Given the description of an element on the screen output the (x, y) to click on. 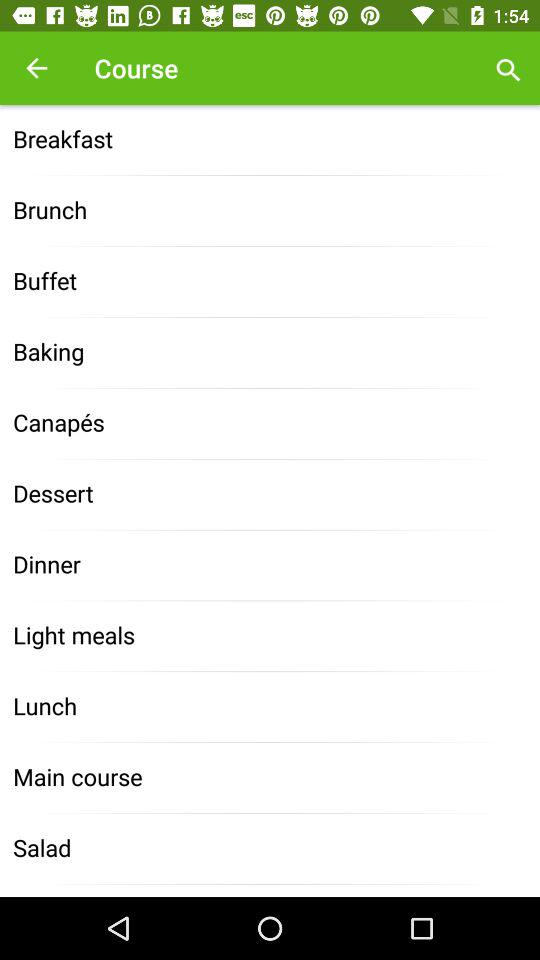
turn on item above the salad (270, 777)
